Given the description of an element on the screen output the (x, y) to click on. 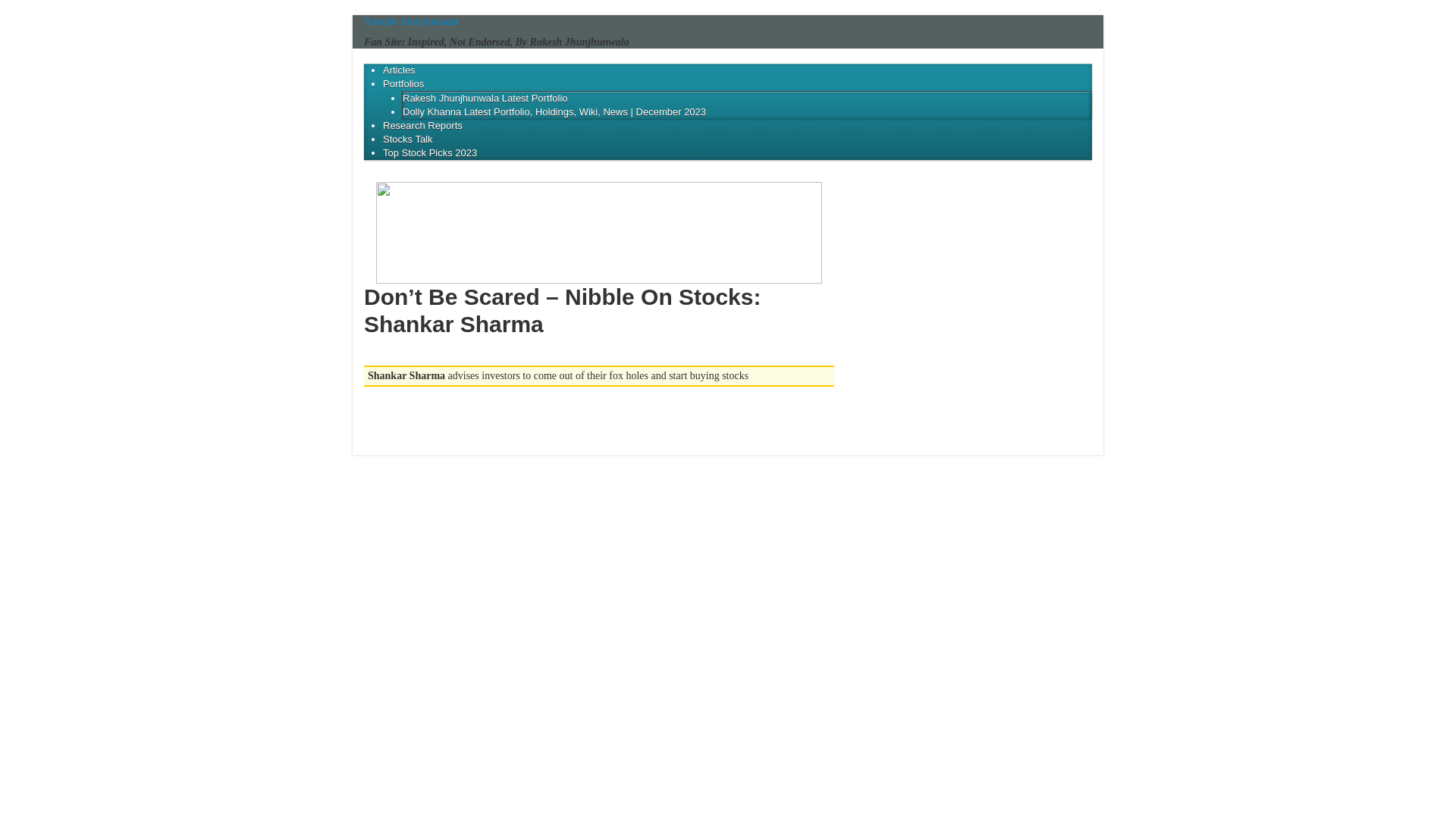
Stocks Talk (407, 138)
Rakesh Jhunjhunwala (411, 21)
Articles (398, 70)
Rakesh Jhunjhunwala Latest Portfolio (485, 98)
Research Reports (422, 125)
Portfolios (402, 83)
Top Stock Picks 2023 (429, 152)
